Given the description of an element on the screen output the (x, y) to click on. 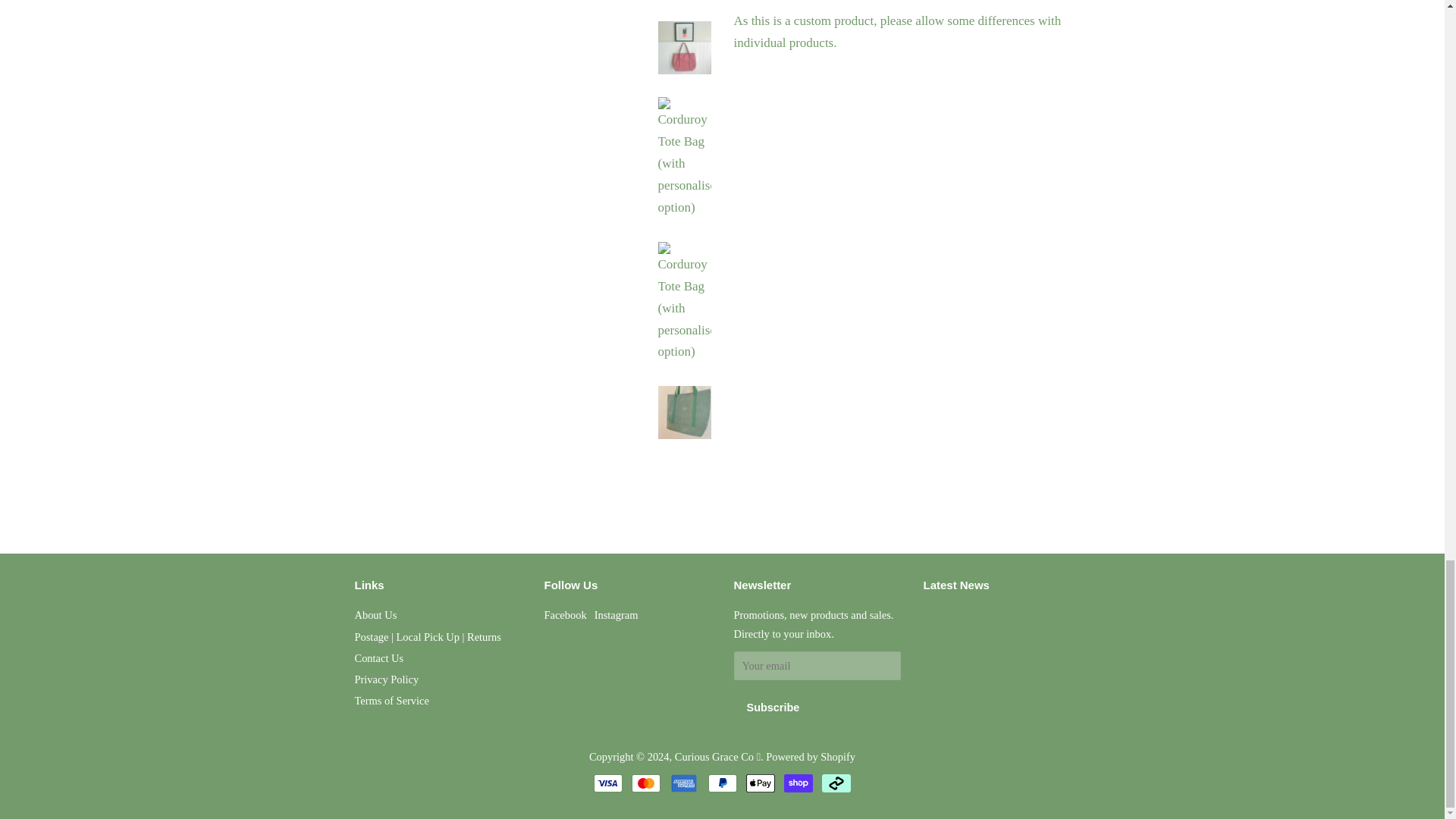
Subscribe (772, 707)
Visa (608, 782)
Afterpay (836, 782)
Apple Pay (759, 782)
Shop Pay (798, 782)
Mastercard (646, 782)
PayPal (721, 782)
